Given the description of an element on the screen output the (x, y) to click on. 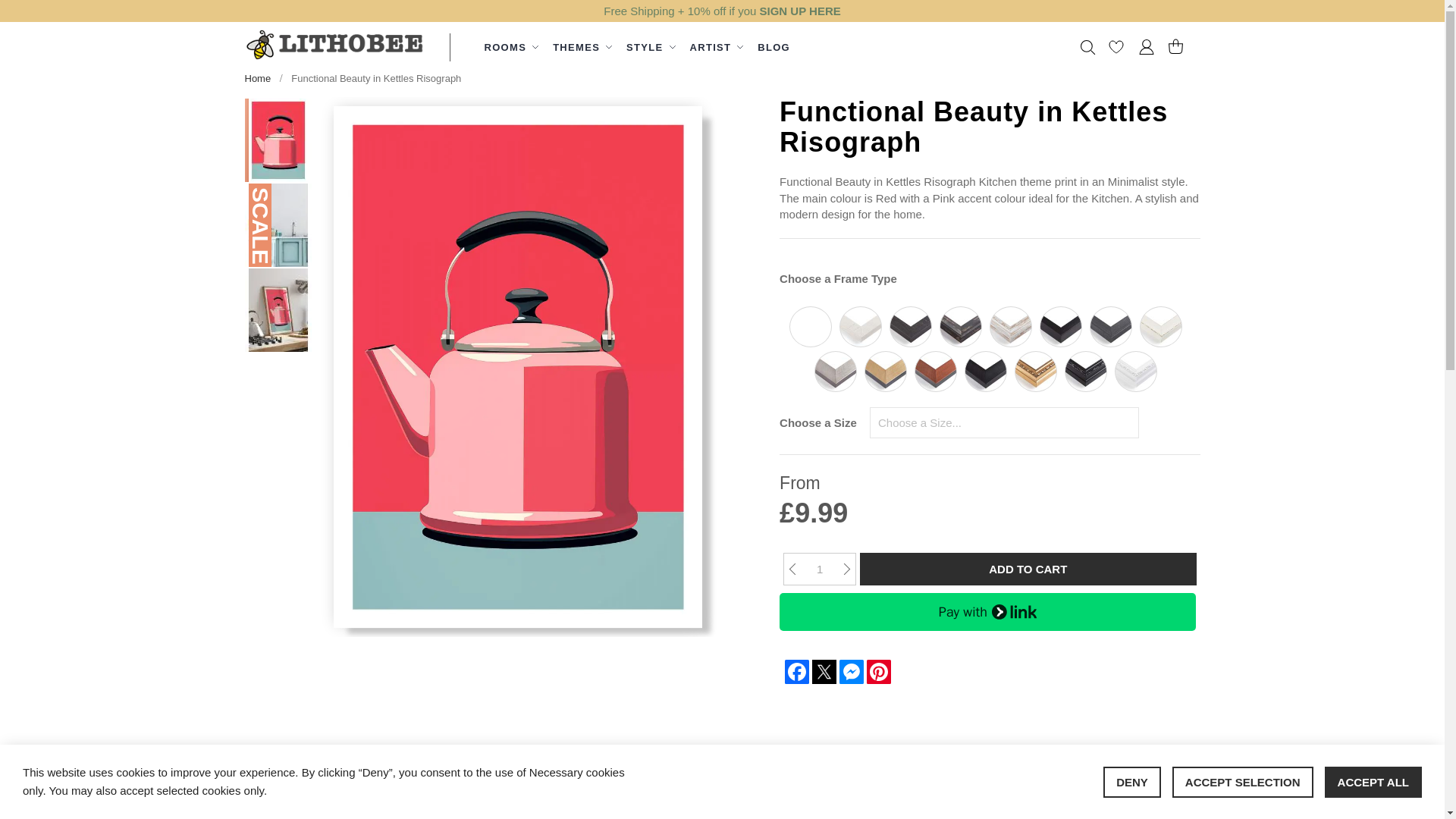
SIGN UP HERE (800, 10)
Qty (819, 568)
1 (819, 568)
lithobee.com Framed Art From The Heart of Industry logo (335, 46)
Secure express checkout frame (987, 611)
Add to Cart (1027, 568)
lithobee.com Framed Art From The Heart of Industry logo (335, 44)
My Account (1146, 48)
My Wish List (1116, 50)
sign up (800, 10)
Search (1087, 47)
ROOMS (508, 47)
THEMES (580, 47)
Go to Home Page (257, 78)
